Given the description of an element on the screen output the (x, y) to click on. 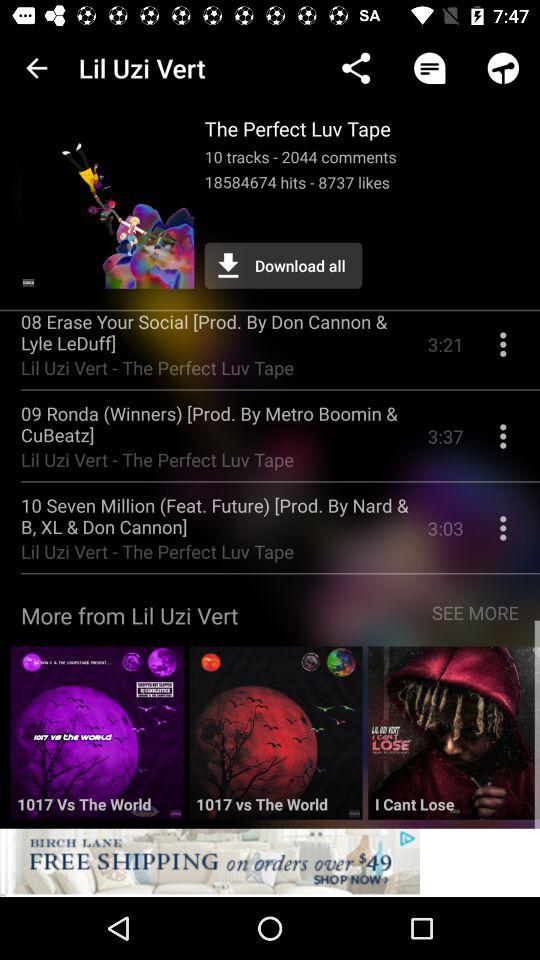
hit i ca n't lose (454, 740)
